Given the description of an element on the screen output the (x, y) to click on. 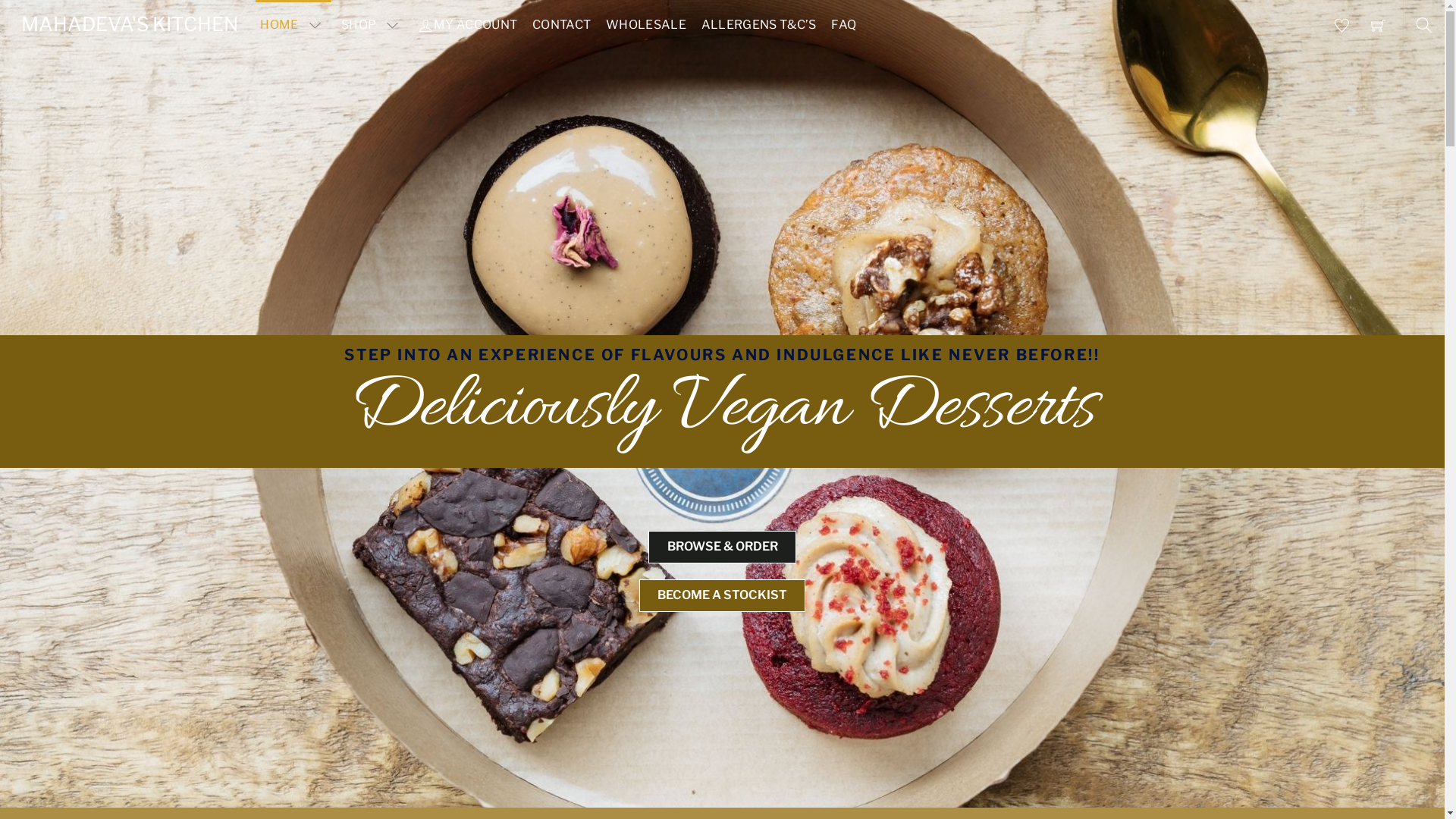
WHOLESALE Element type: text (646, 25)
SHOP Element type: text (372, 25)
BECOME A STOCKIST Element type: text (722, 595)
BROWSE & ORDER Element type: text (721, 546)
MY ACCOUNT Element type: text (467, 25)
FAQ Element type: text (843, 25)
HOME Element type: text (293, 25)
CONTACT Element type: text (561, 25)
MAHADEVA'S KITCHEN Element type: text (129, 23)
